Given the description of an element on the screen output the (x, y) to click on. 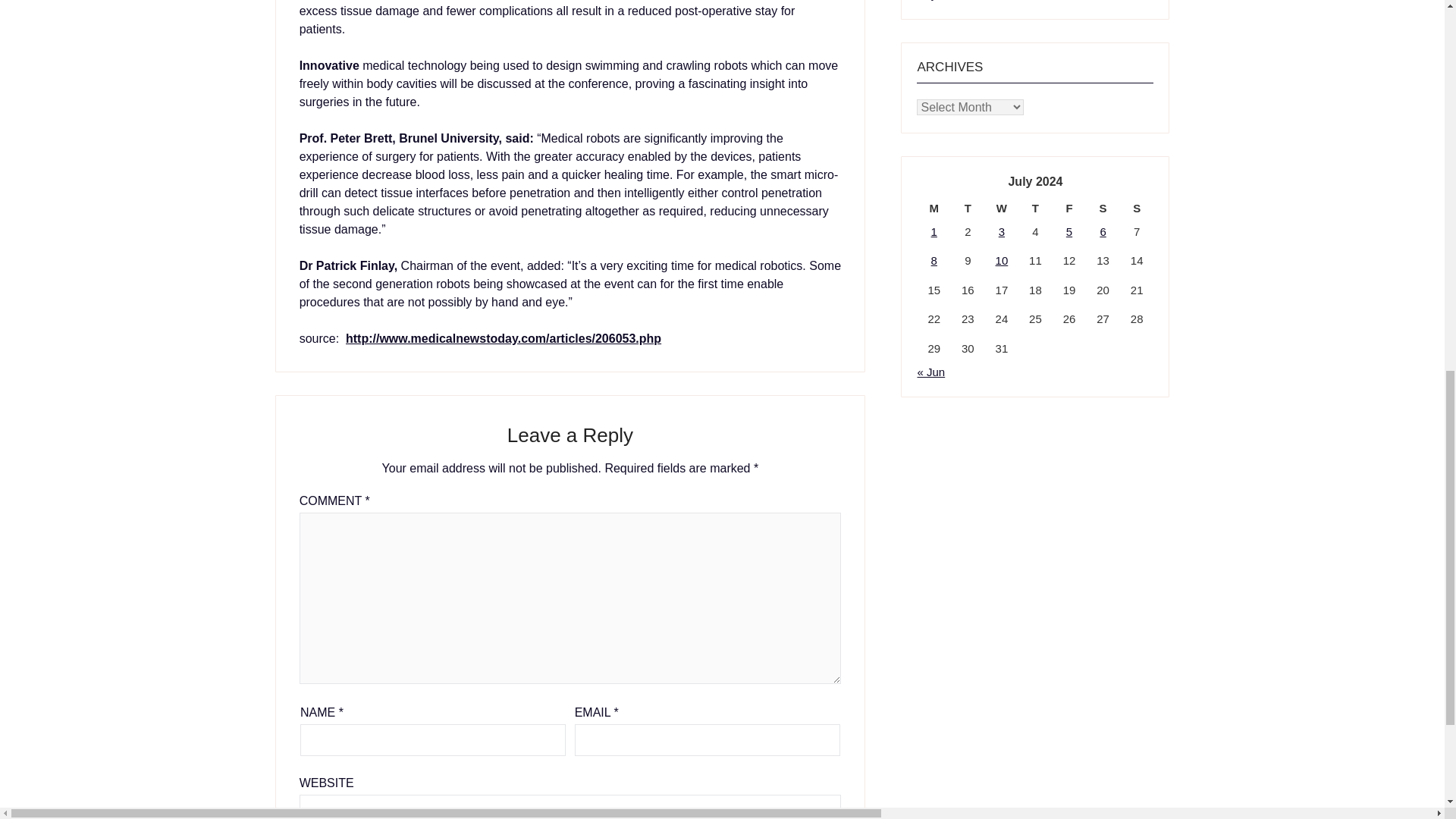
1 (934, 231)
Monday (933, 208)
Saturday (1102, 208)
5 (1068, 231)
Wednesday (1002, 208)
Tuesday (967, 208)
Sunday (1136, 208)
8 (934, 259)
Thursday (1034, 208)
3 (1001, 231)
10 (1002, 259)
Friday (1069, 208)
6 (1102, 231)
